Given the description of an element on the screen output the (x, y) to click on. 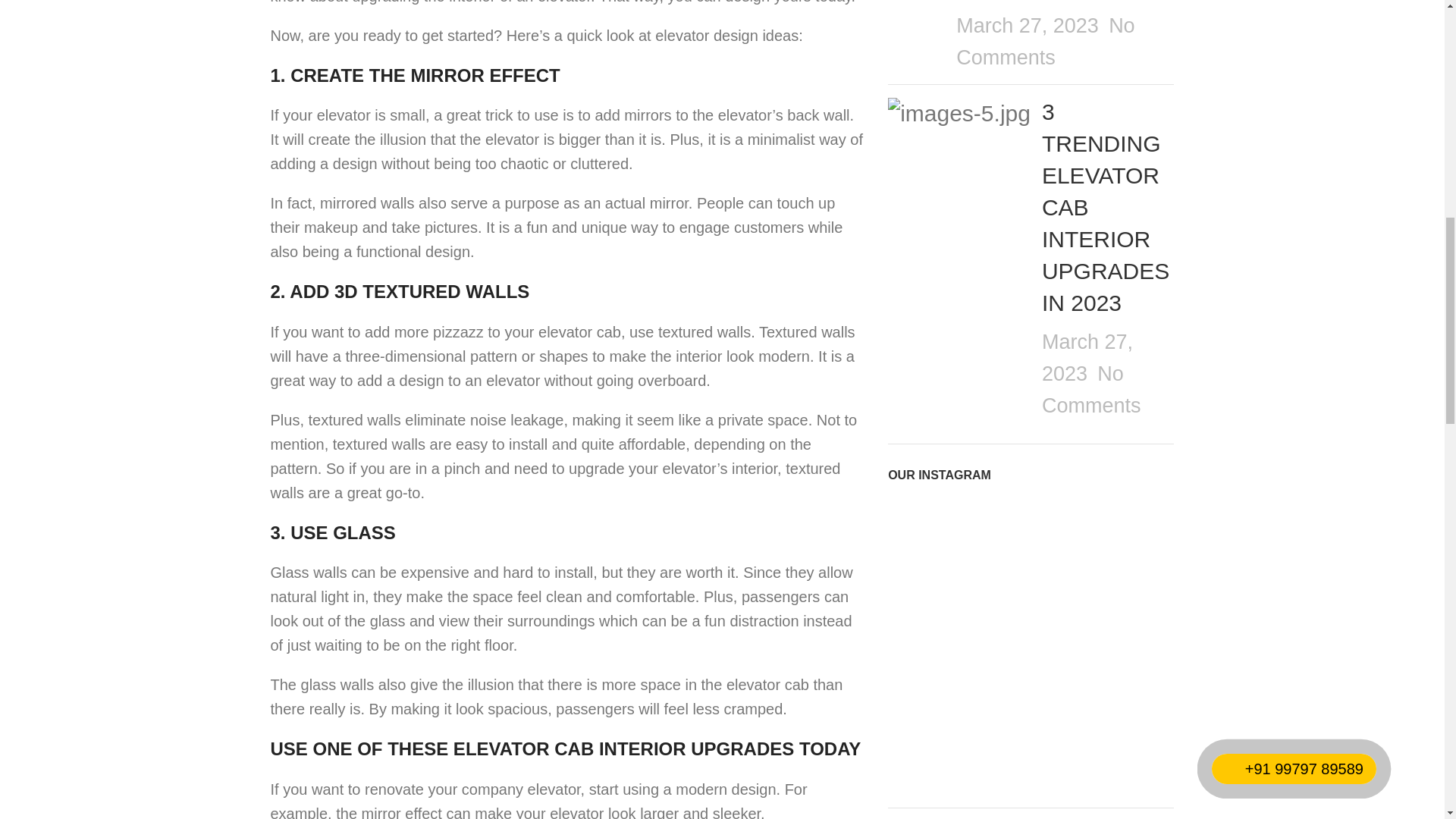
images-5.jpg (959, 113)
